Given the description of an element on the screen output the (x, y) to click on. 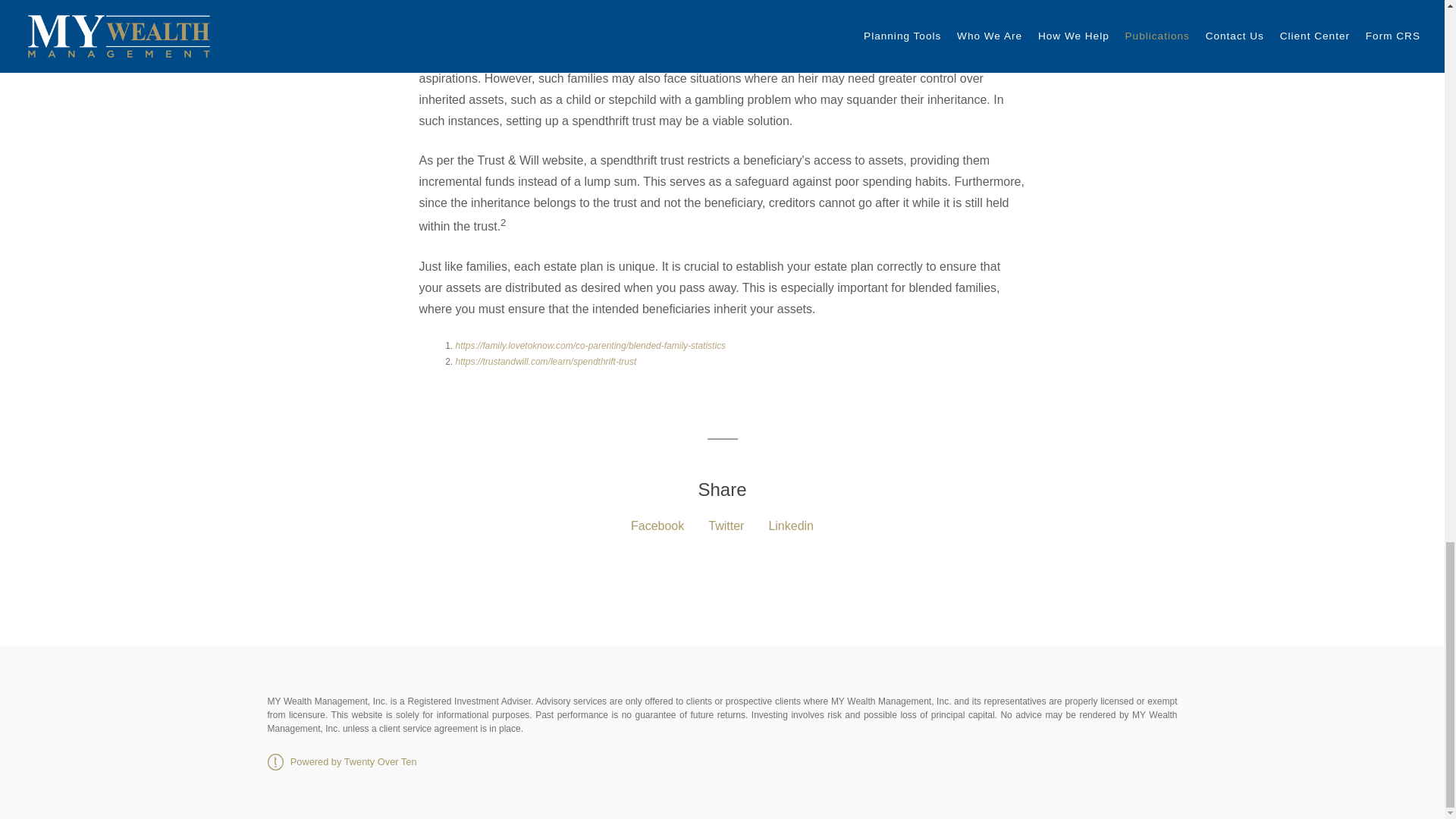
Twitter (725, 525)
Facebook (657, 525)
Linkedin (790, 525)
Powered by Twenty Over Ten (341, 761)
